Given the description of an element on the screen output the (x, y) to click on. 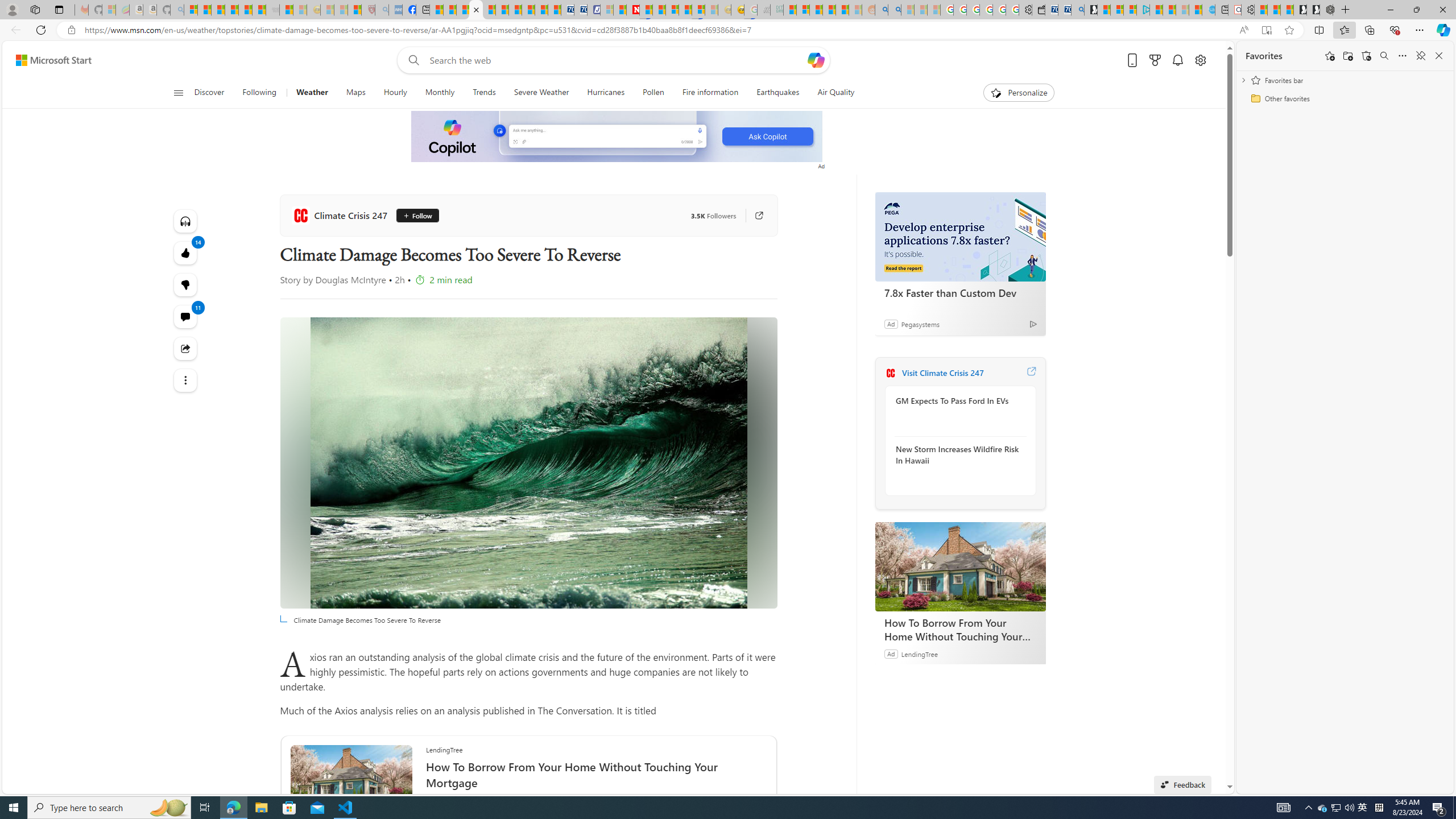
7.8x Faster than Custom Dev (959, 292)
New Report Confirms 2023 Was Record Hot | Watch (245, 9)
